Given the description of an element on the screen output the (x, y) to click on. 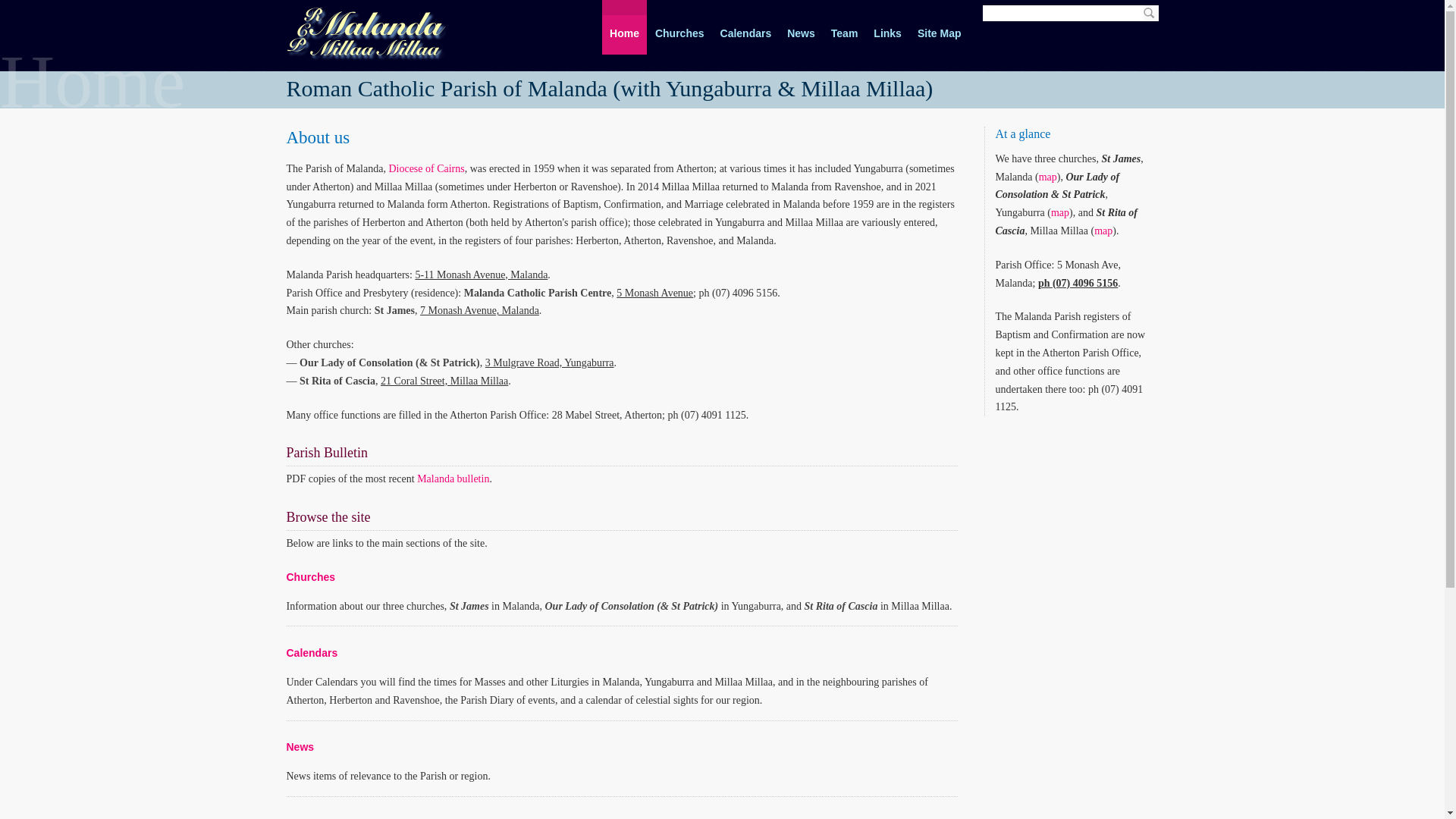
map Element type: text (1060, 212)
Churches Element type: text (310, 577)
map Element type: text (1103, 230)
Search Element type: text (1147, 13)
Site Map Element type: text (939, 27)
map Element type: text (1047, 176)
Home Element type: text (624, 27)
Calendars Element type: text (312, 652)
Team Element type: text (844, 27)
Links Element type: text (887, 27)
Churches Element type: text (679, 27)
Diocese of Cairns Element type: text (426, 168)
News Element type: text (800, 27)
Calendars Element type: text (745, 27)
News Element type: text (300, 746)
Malanda bulletin Element type: text (453, 478)
